Given the description of an element on the screen output the (x, y) to click on. 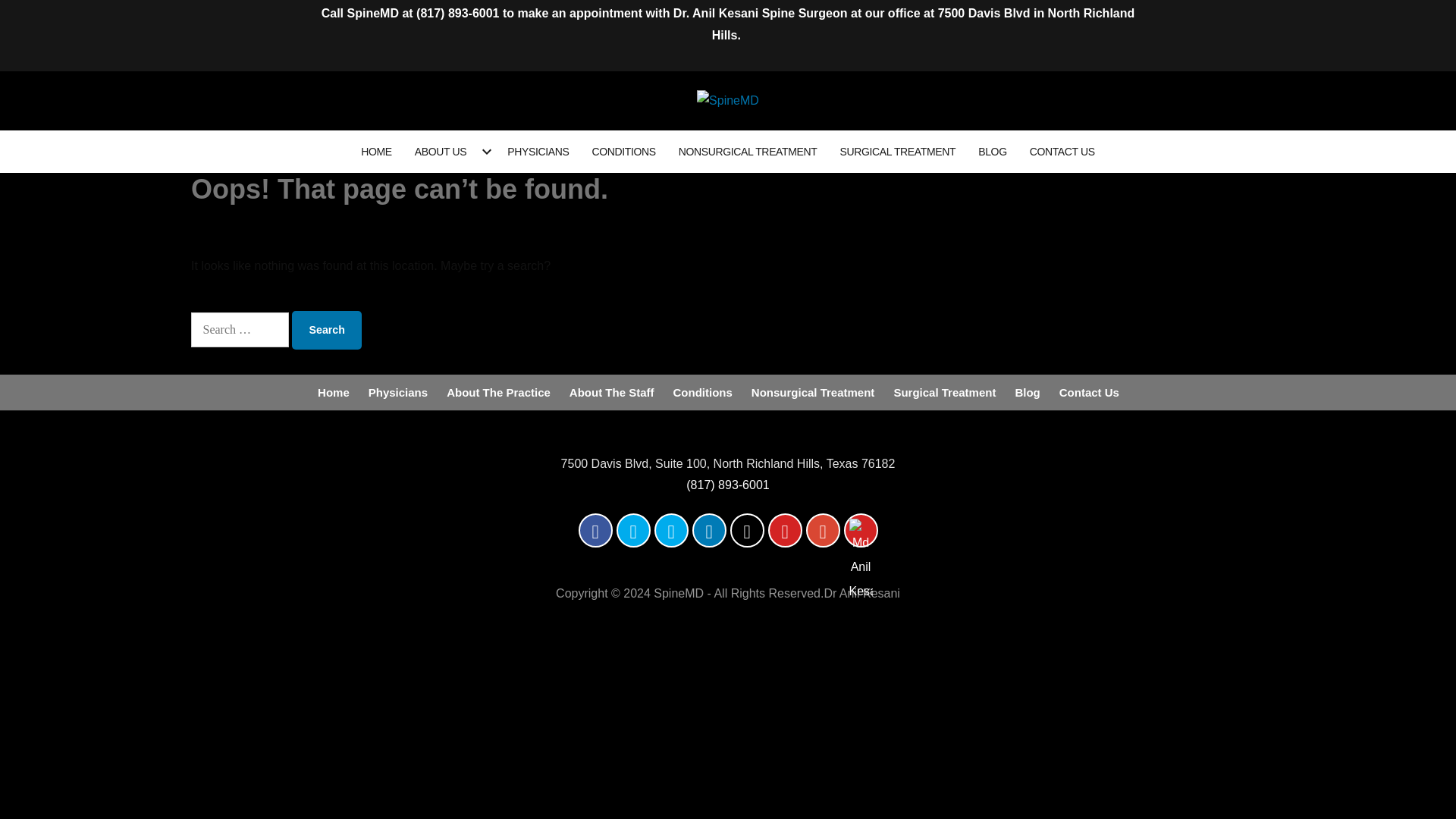
Home (333, 392)
About The Staff (611, 392)
Dr Anil Kesani (861, 593)
HOME (376, 151)
CONTACT US (1061, 151)
BLOG (991, 151)
SURGICAL TREATMENT (897, 151)
Search (326, 330)
Search (326, 330)
Conditions (702, 392)
CONDITIONS (622, 151)
About The Practice (498, 392)
PHYSICIANS (537, 151)
Physicians (398, 392)
Dr. Anil Kesani (715, 12)
